Given the description of an element on the screen output the (x, y) to click on. 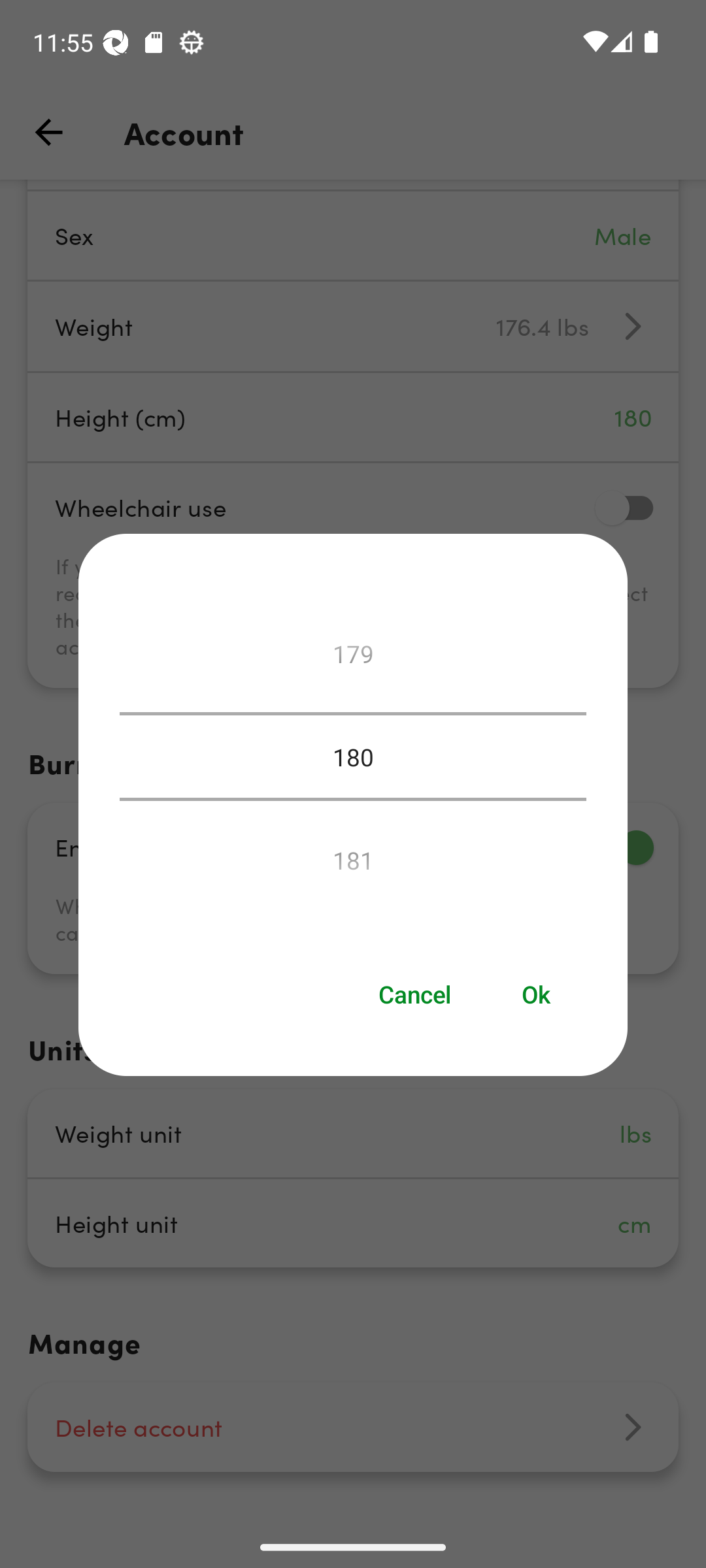
179 (352, 658)
180 (352, 756)
181 (352, 854)
Cancel (415, 993)
Ok (536, 993)
